Given the description of an element on the screen output the (x, y) to click on. 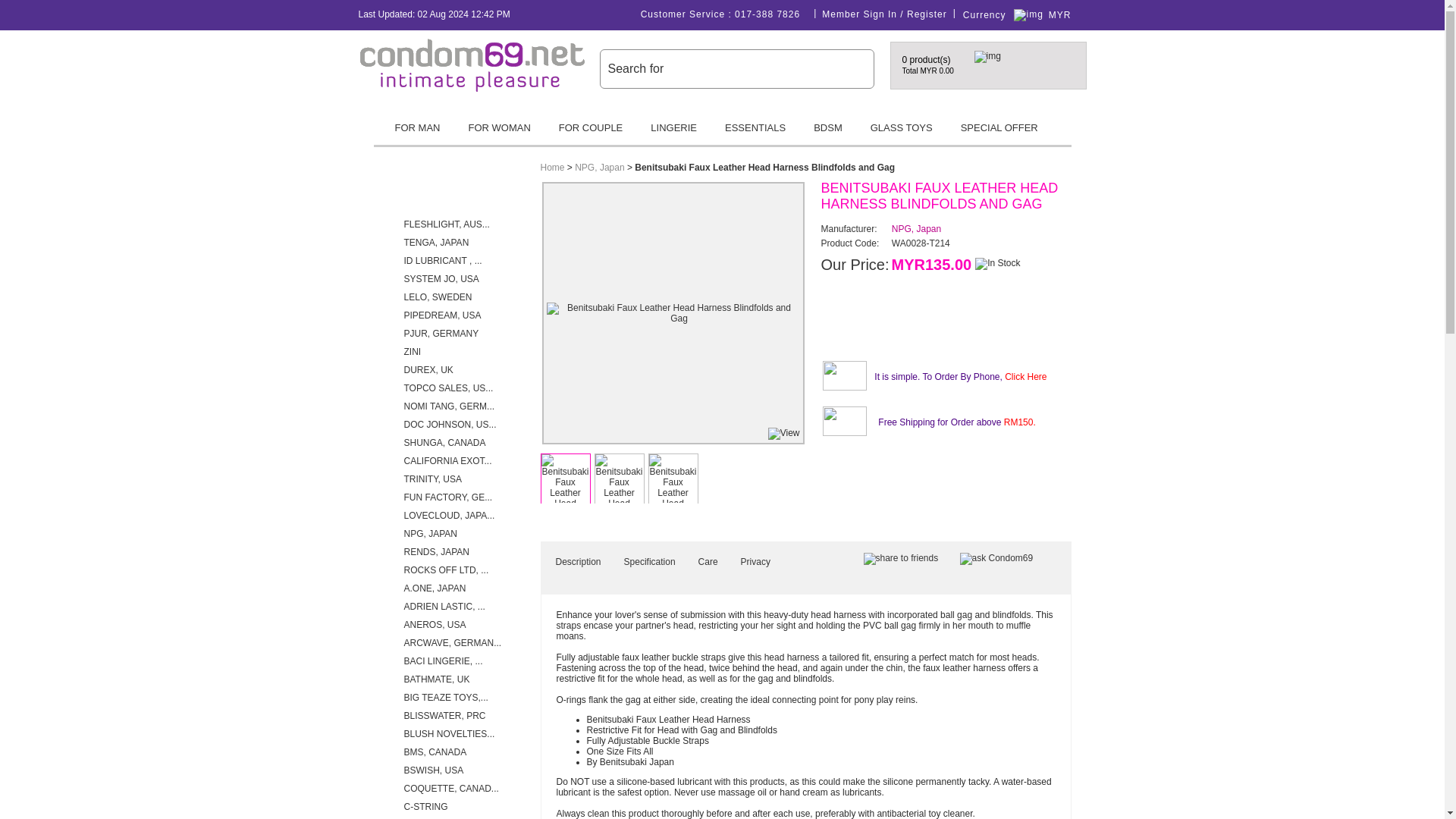
MYR (1065, 14)
Search for (724, 68)
FOR COUPLE (590, 133)
Search for (724, 68)
Register (927, 14)
Condom69 (471, 88)
Sign In (879, 14)
Condom69 (471, 64)
Sign In (879, 14)
Cart (1025, 65)
Register (927, 14)
FOR MAN (416, 133)
FOR WOMAN (498, 133)
FOR MAN (416, 133)
